Given the description of an element on the screen output the (x, y) to click on. 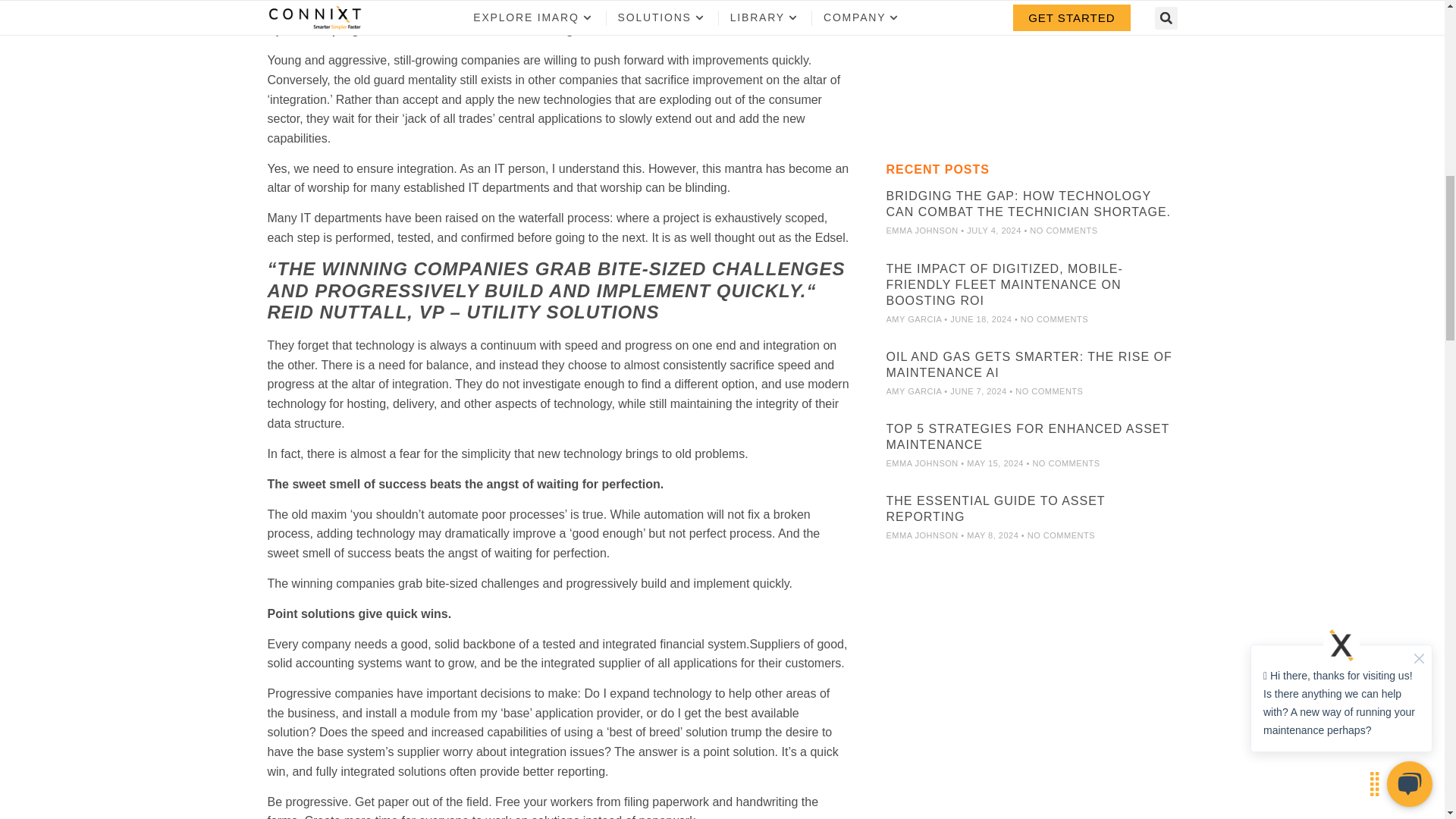
Form 0 (1030, 63)
